Given the description of an element on the screen output the (x, y) to click on. 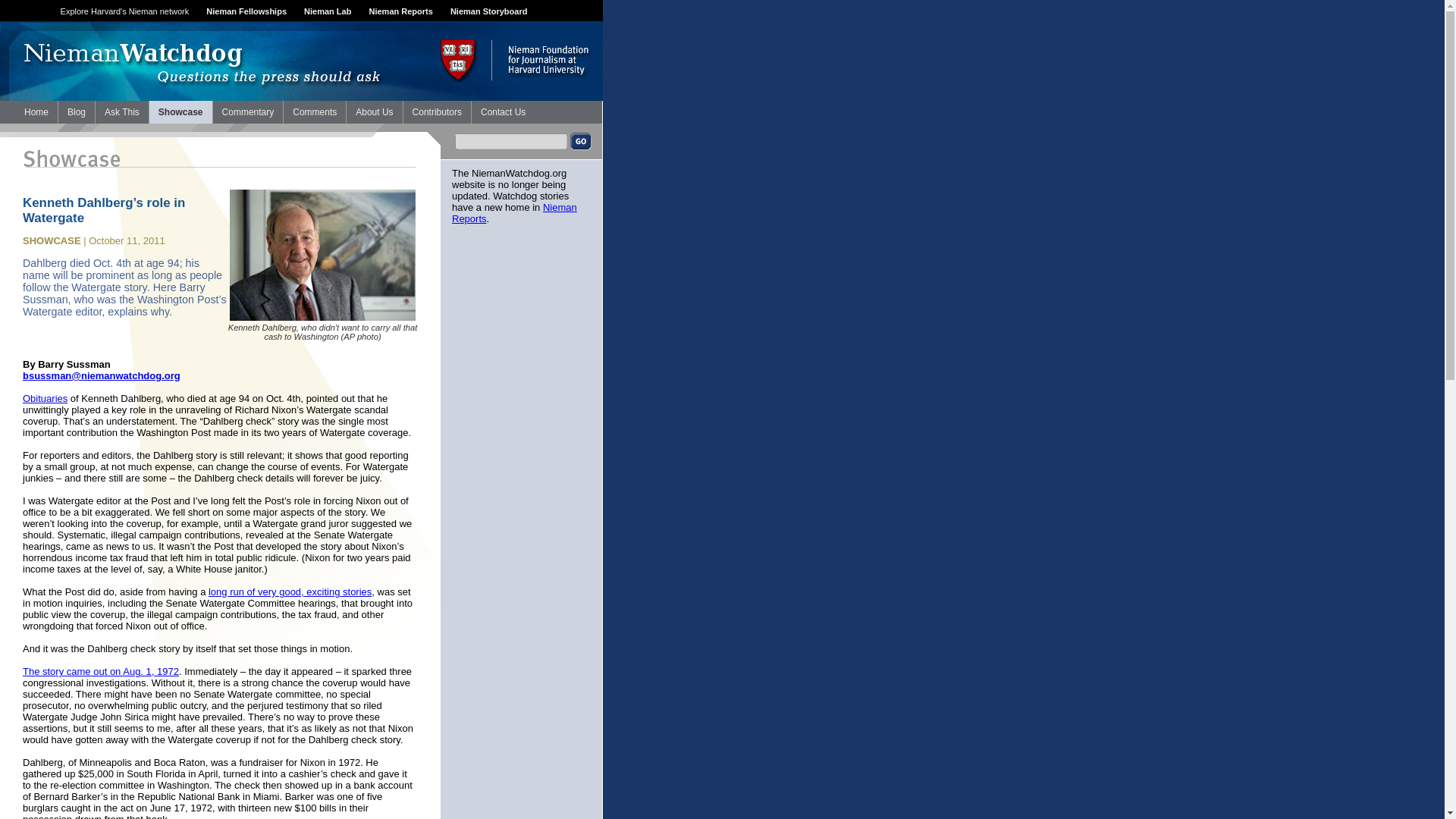
Nieman Fellowships (246, 10)
About Us (373, 112)
Explore Harvard's Nieman network (125, 10)
Contributors (436, 112)
Home (36, 112)
Nieman Lab (327, 10)
Commentary (247, 112)
Nieman Storyboard (488, 10)
Nieman Reports (400, 10)
Obituaries (44, 398)
The story came out on Aug. 1, 1972 (101, 671)
Comments (314, 112)
Blog (76, 112)
Ask This (122, 112)
Nieman Reports (513, 212)
